Given the description of an element on the screen output the (x, y) to click on. 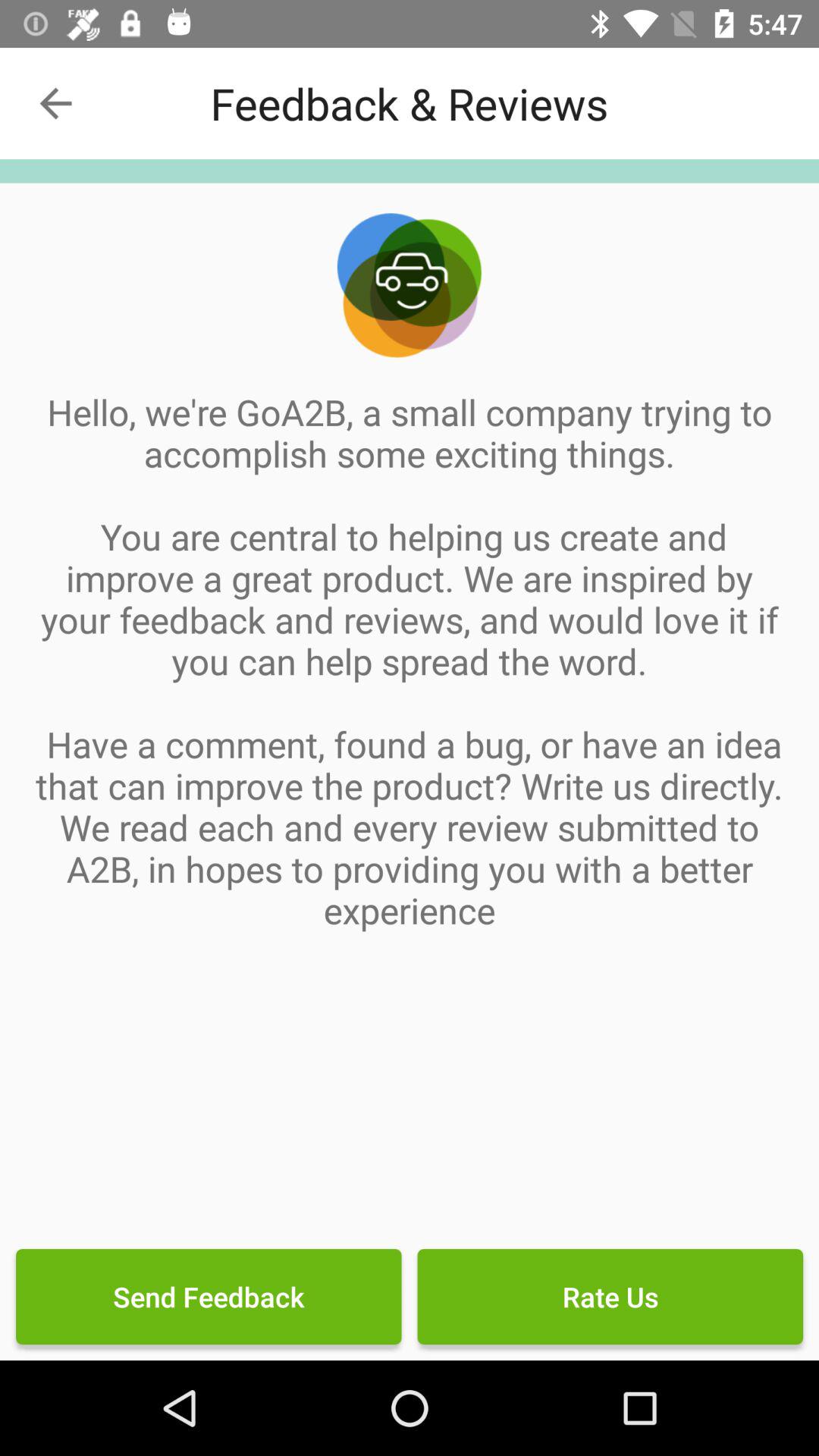
select the rate us item (610, 1296)
